Given the description of an element on the screen output the (x, y) to click on. 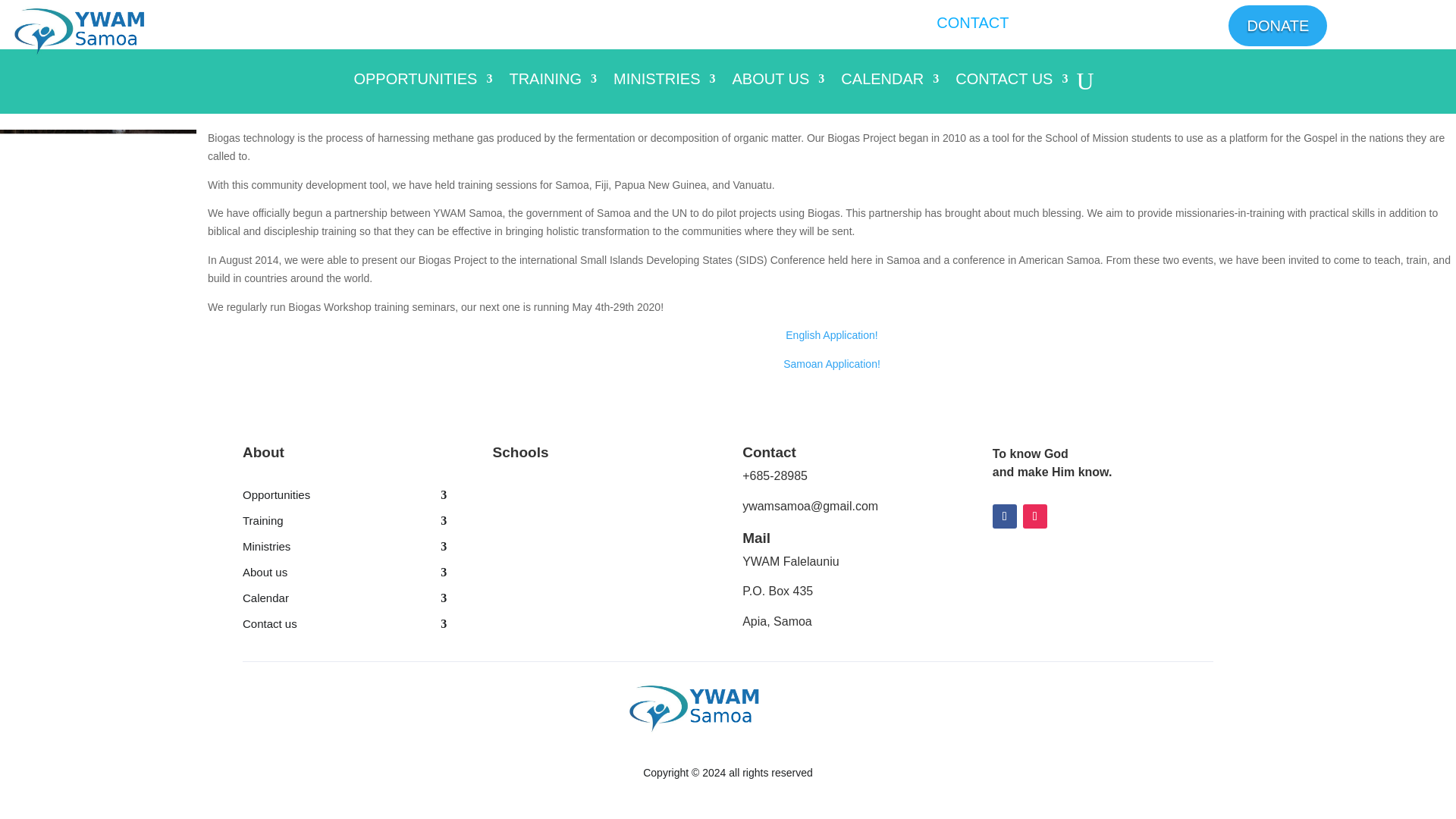
TRAINING (552, 84)
logo-ywam-samoa (113, 30)
MINISTRIES (663, 84)
CONTACT US (1011, 84)
OPPORTUNITIES (422, 84)
Follow on Facebook (1004, 516)
DONATE (1277, 24)
CONTACT (972, 22)
calendar (344, 600)
ABOUT US (778, 84)
